Given the description of an element on the screen output the (x, y) to click on. 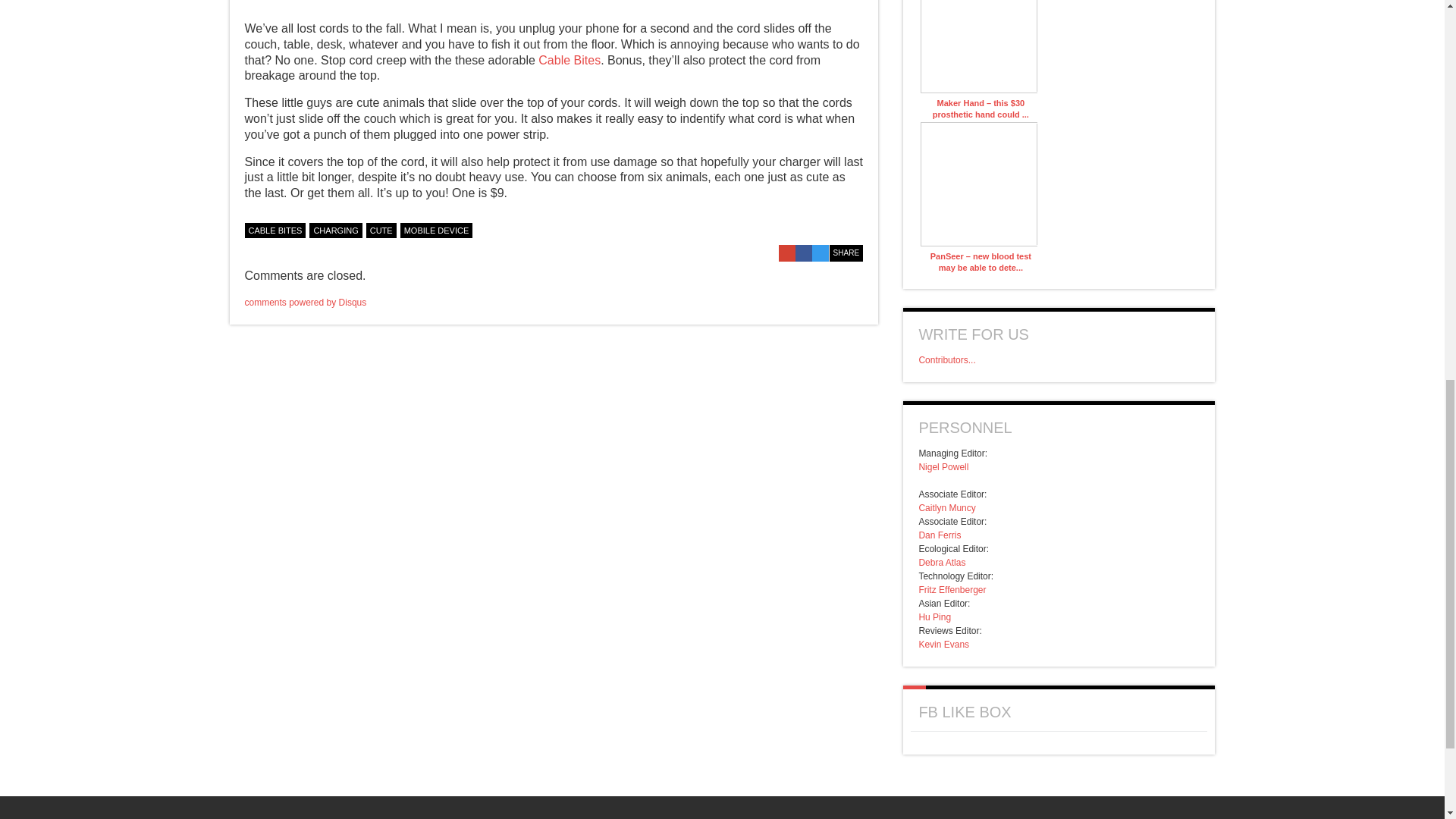
CABLE BITES (274, 230)
CHARGING (334, 230)
SHARE (846, 252)
Cable Bites (568, 60)
comments powered by Disqus (305, 302)
Dan Ferris (939, 534)
Nigel Powell (943, 466)
I like this article (855, 227)
Fritz Effenberger (951, 589)
Contributors... (946, 359)
